Given the description of an element on the screen output the (x, y) to click on. 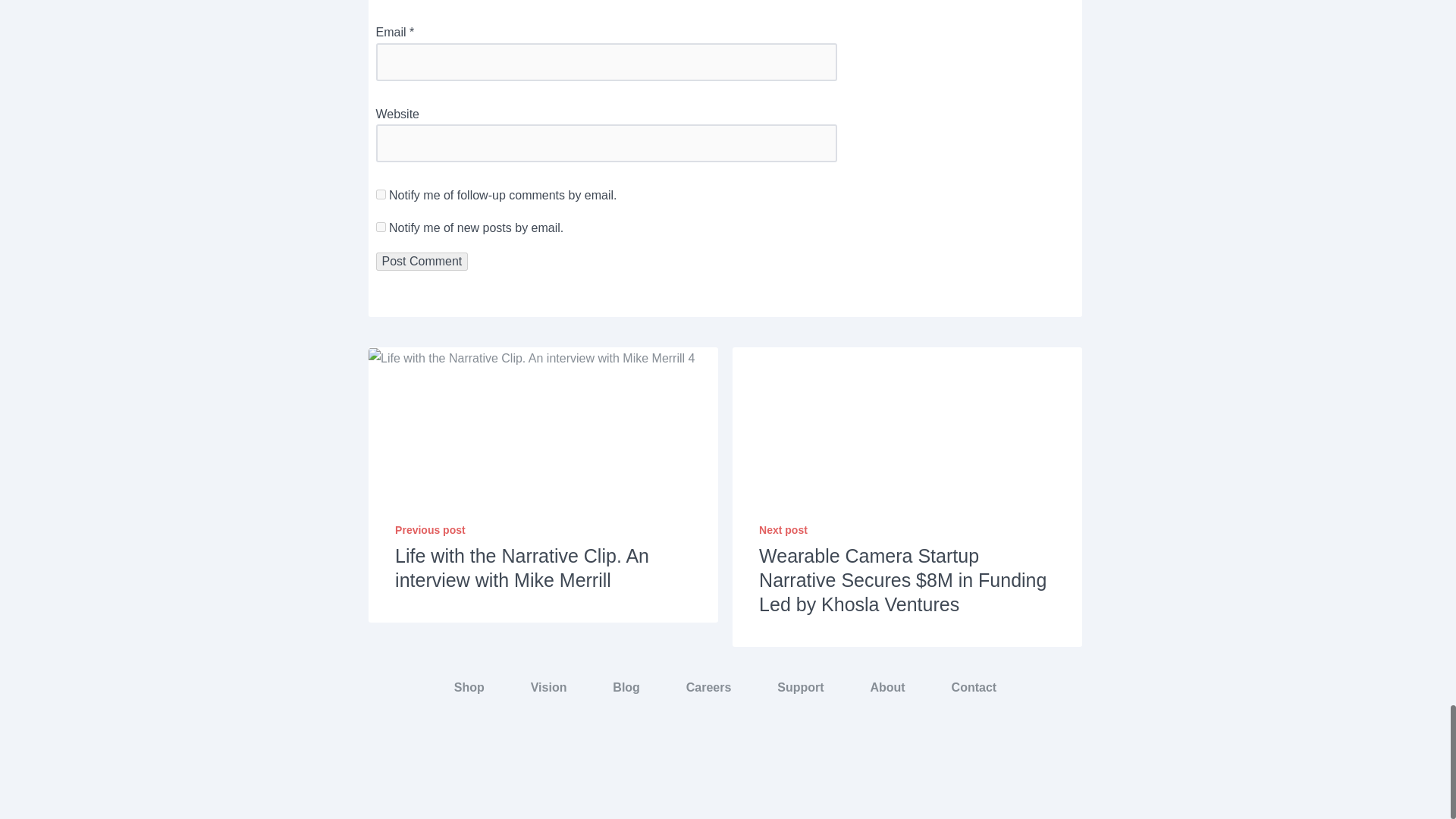
subscribe (380, 226)
Post Comment (421, 261)
subscribe (380, 194)
